Given the description of an element on the screen output the (x, y) to click on. 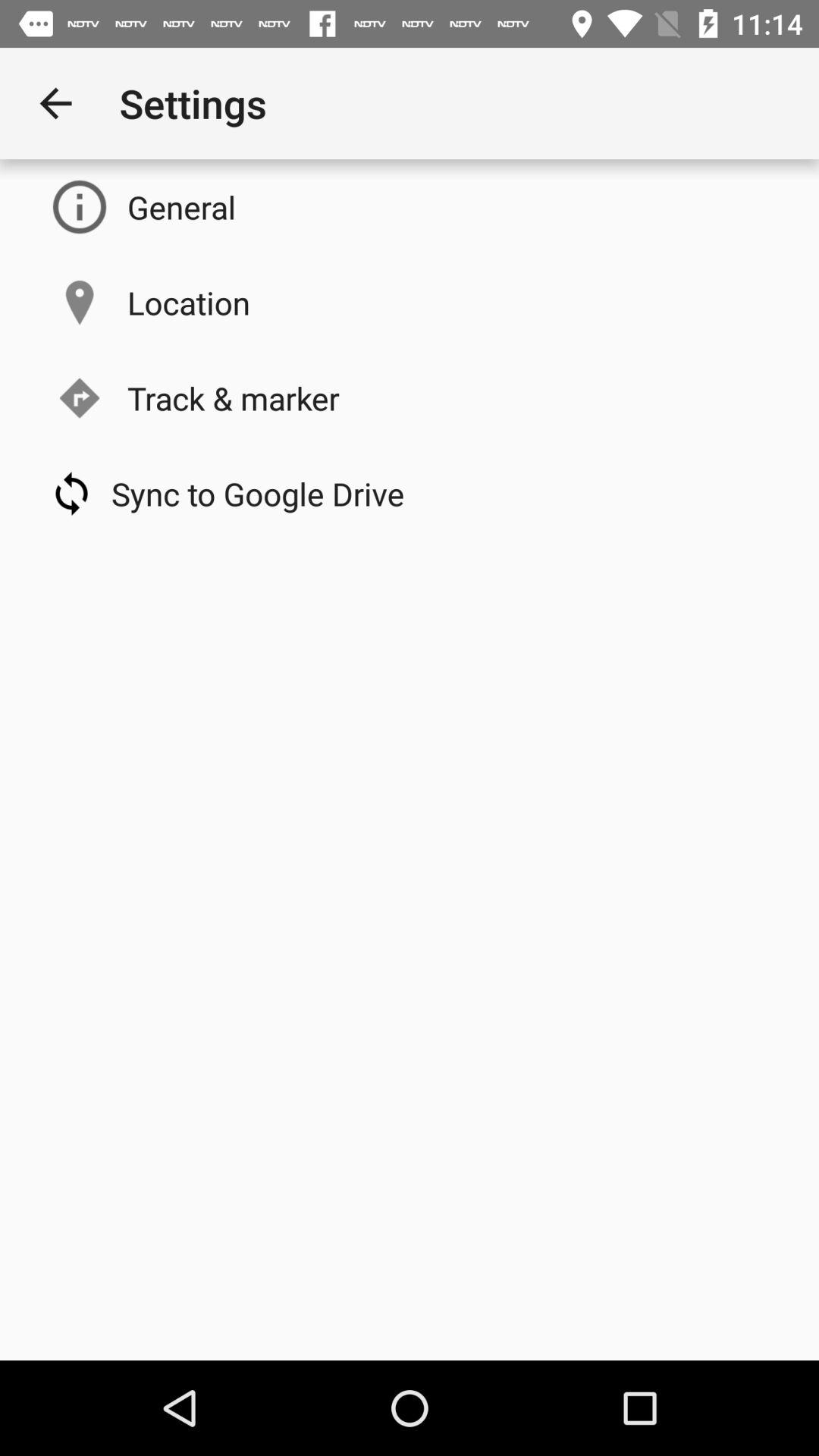
click the item to the left of the settings icon (55, 103)
